Given the description of an element on the screen output the (x, y) to click on. 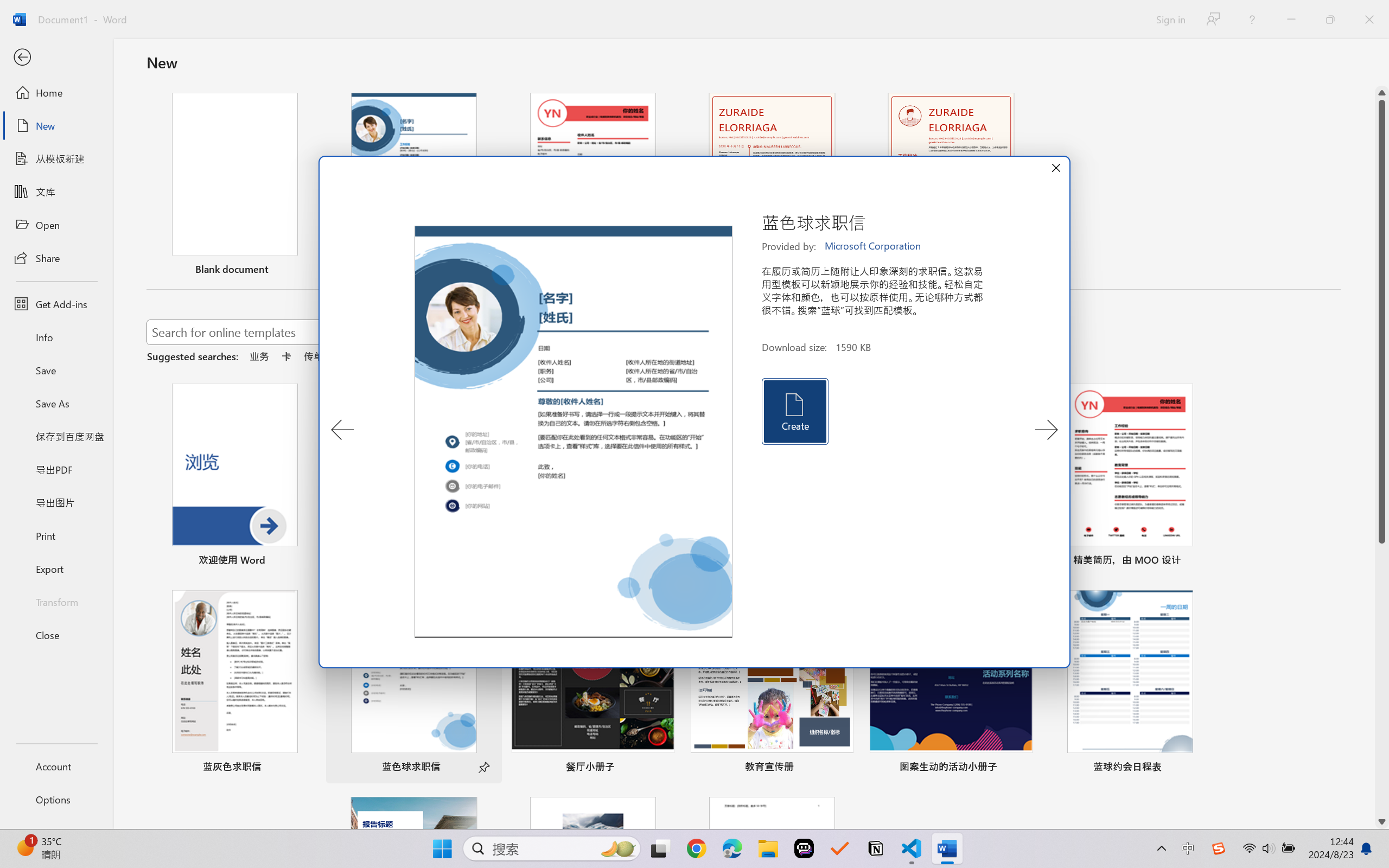
Save As (56, 403)
Transform (56, 601)
New (56, 125)
Export (56, 568)
Options (56, 798)
